Given the description of an element on the screen output the (x, y) to click on. 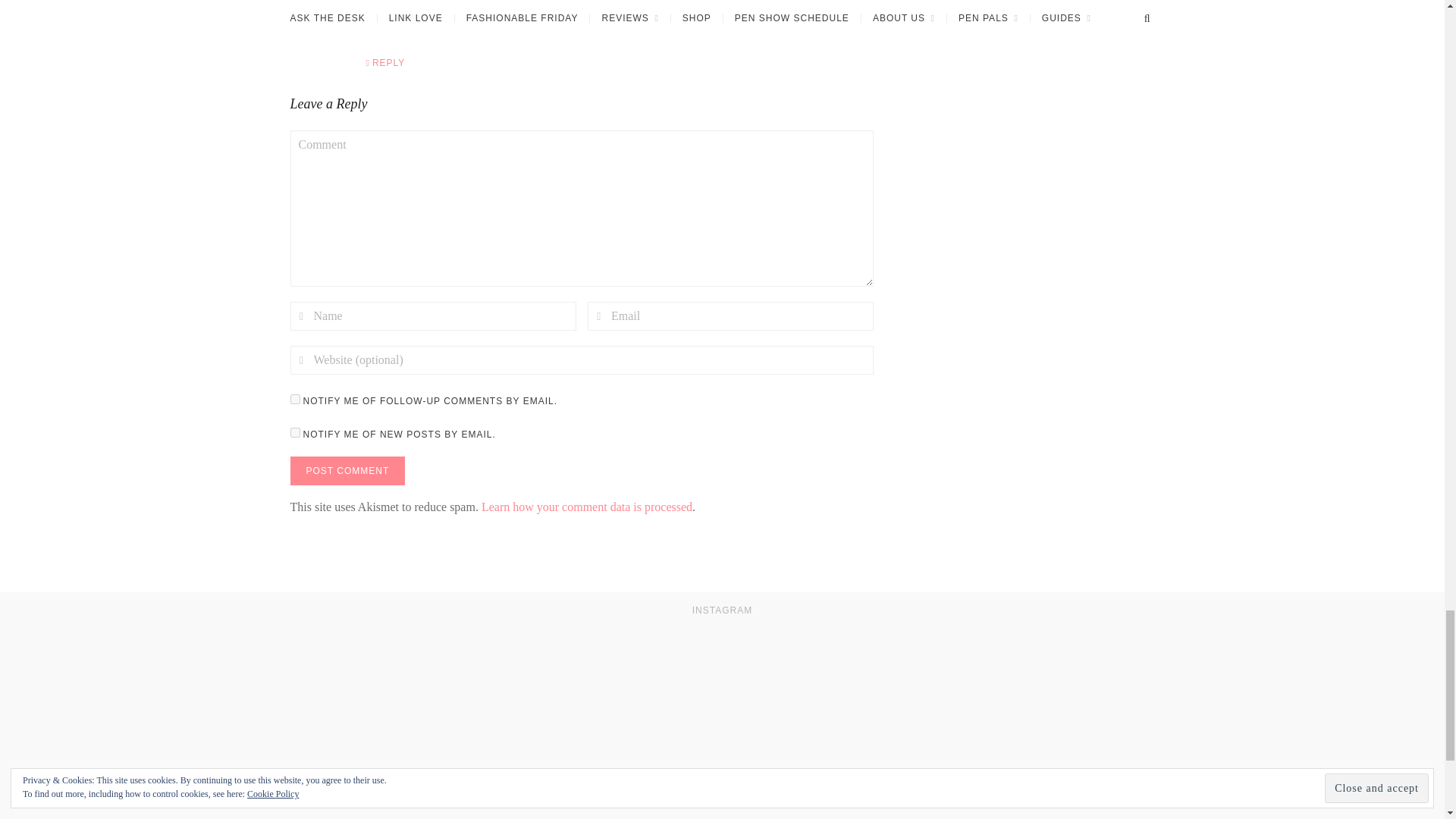
subscribe (294, 398)
subscribe (294, 432)
Post Comment (346, 470)
